Given the description of an element on the screen output the (x, y) to click on. 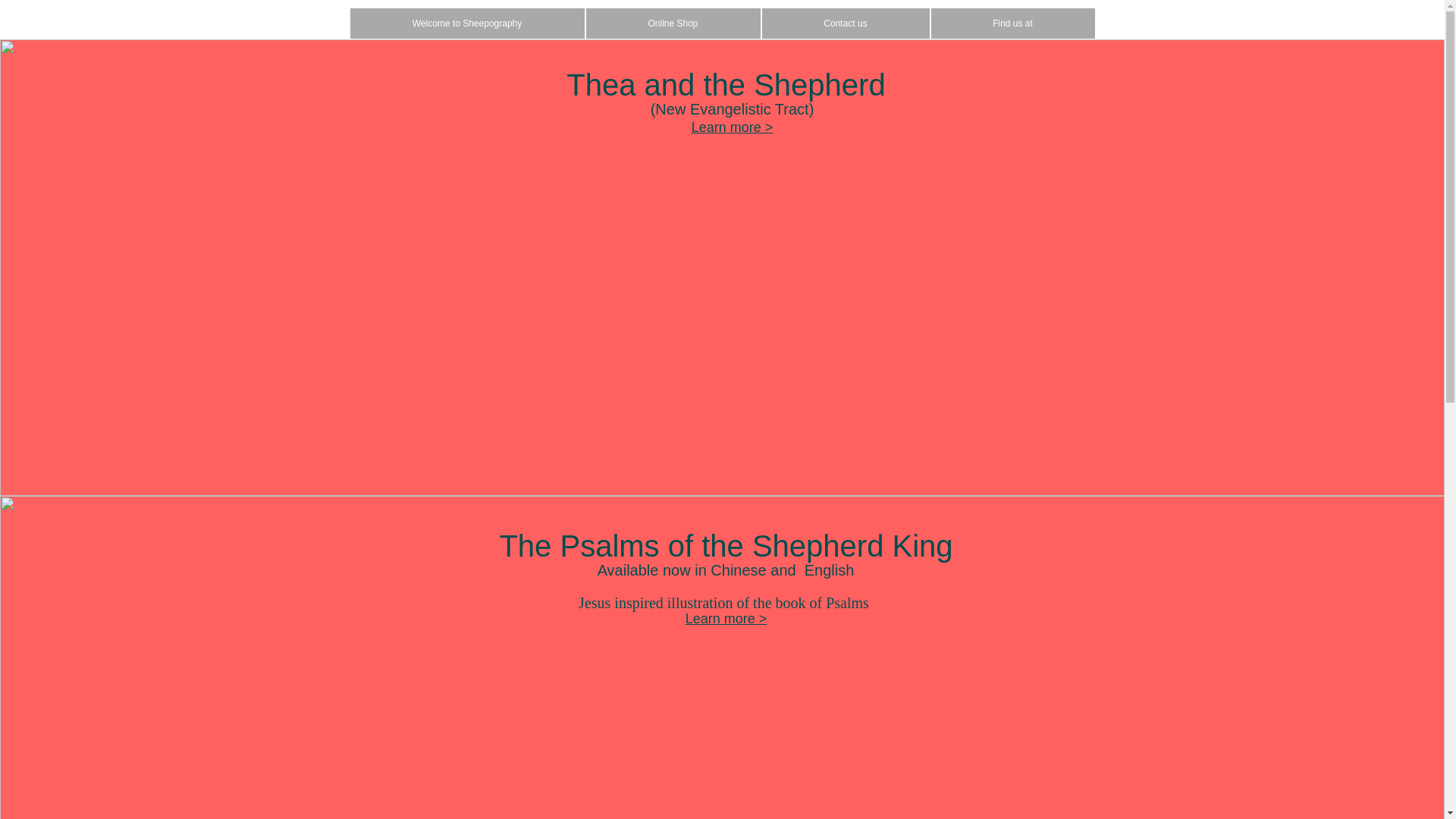
Jesus inspired illustration of the book of Psalms (723, 602)
Available now in Chinese and  English (725, 569)
The Psalms of the Shepherd King (725, 545)
Thea and the Shepherd (725, 84)
Online Shop (673, 23)
Welcome to Sheepography (467, 23)
Find us at (1012, 23)
Contact us (845, 23)
